Given the description of an element on the screen output the (x, y) to click on. 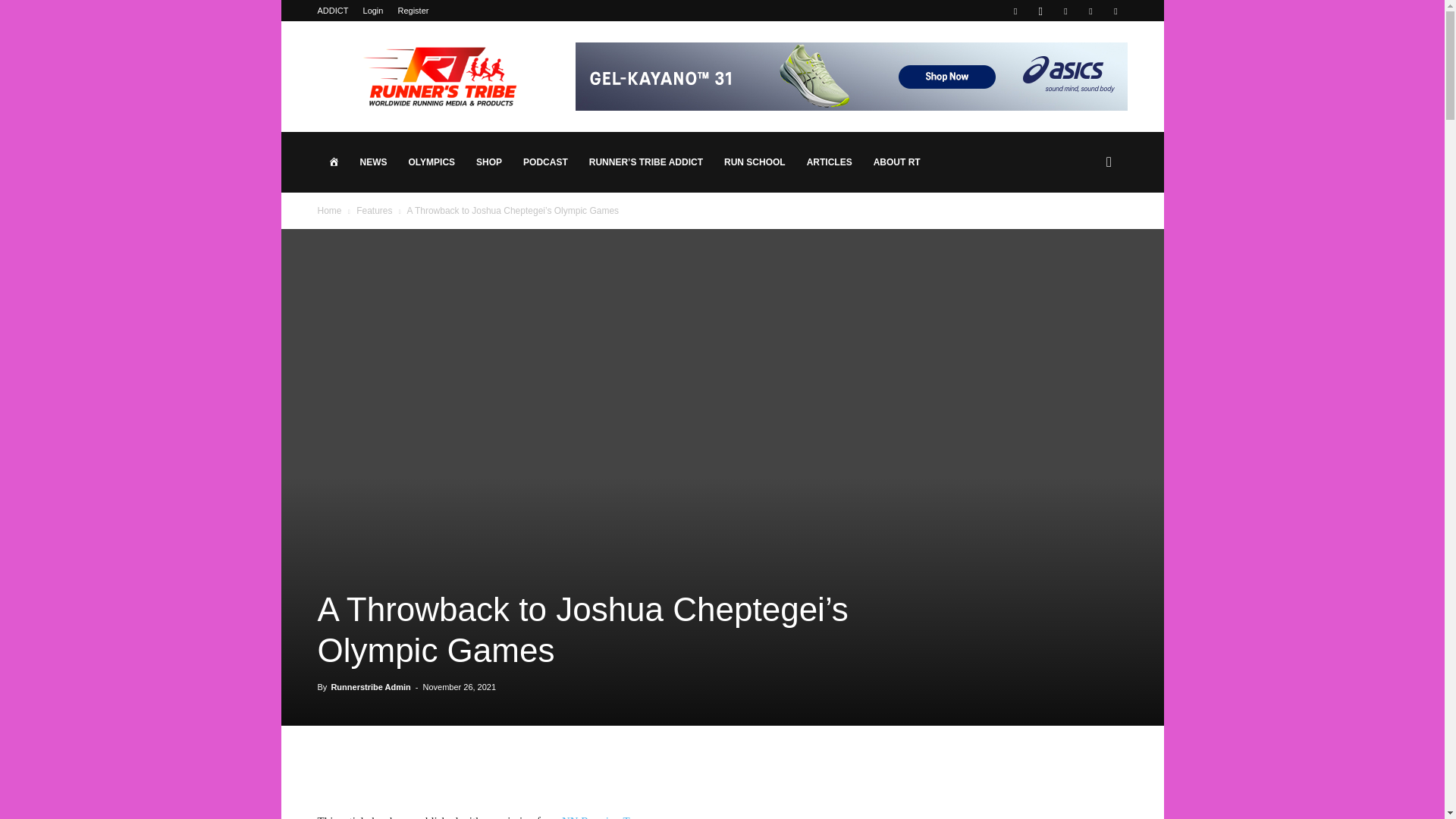
Facebook (1015, 10)
Instagram (1040, 10)
Twitter (1090, 10)
Youtube (1114, 10)
Pinterest (1065, 10)
